Given the description of an element on the screen output the (x, y) to click on. 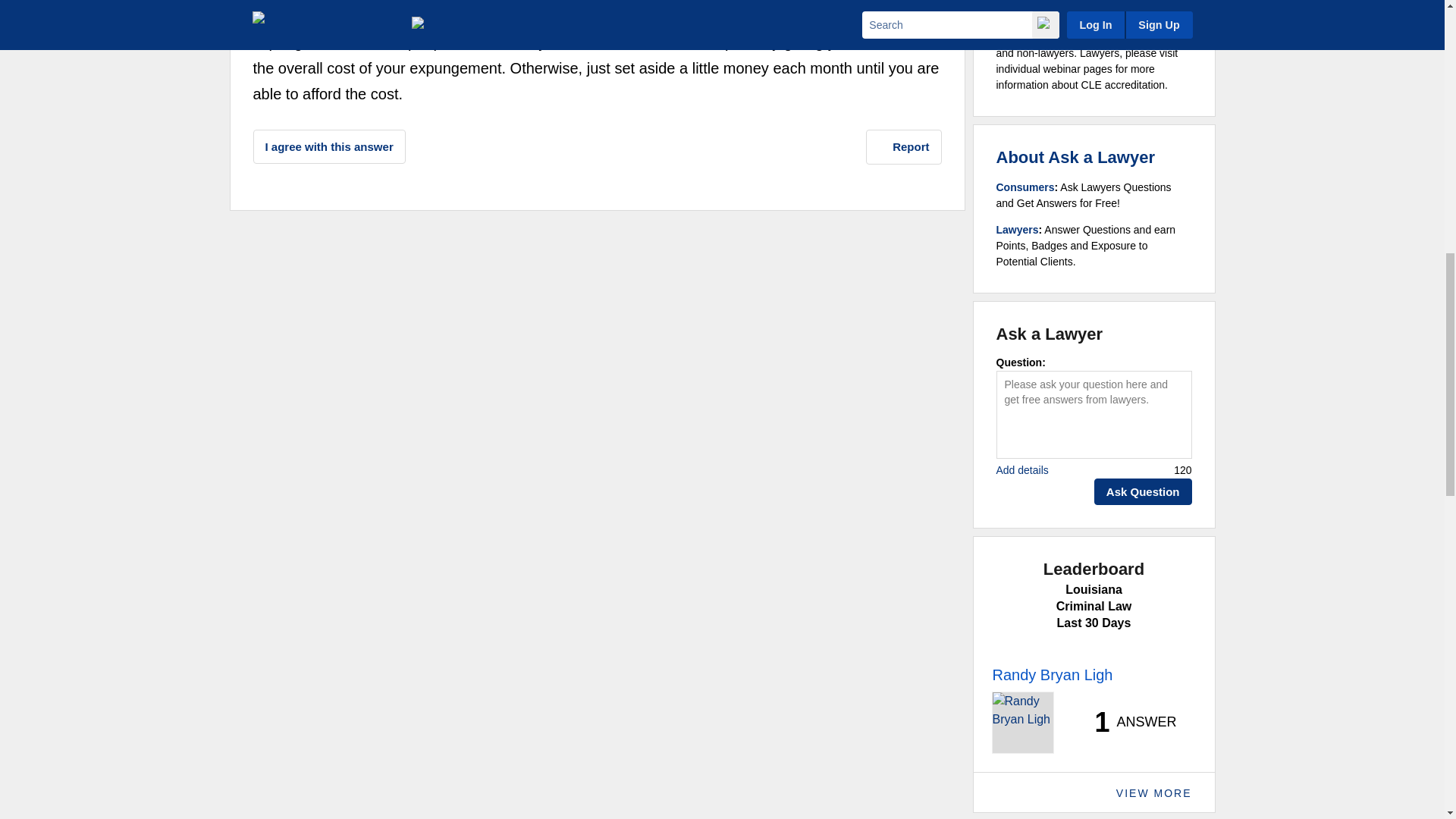
Ask a Lawyer - FAQs - Consumers (1024, 186)
Report (904, 147)
Ask a Lawyer - Leaderboard - Lawyer Photo (1021, 722)
I agree with this answer (329, 146)
Ask a Lawyer - Leaderboard - Lawyer Name (1051, 674)
Ask a Lawyer - Leaderboard - Lawyer Stats (1127, 722)
Ask a Lawyer - FAQs - Lawyers (1017, 229)
